Given the description of an element on the screen output the (x, y) to click on. 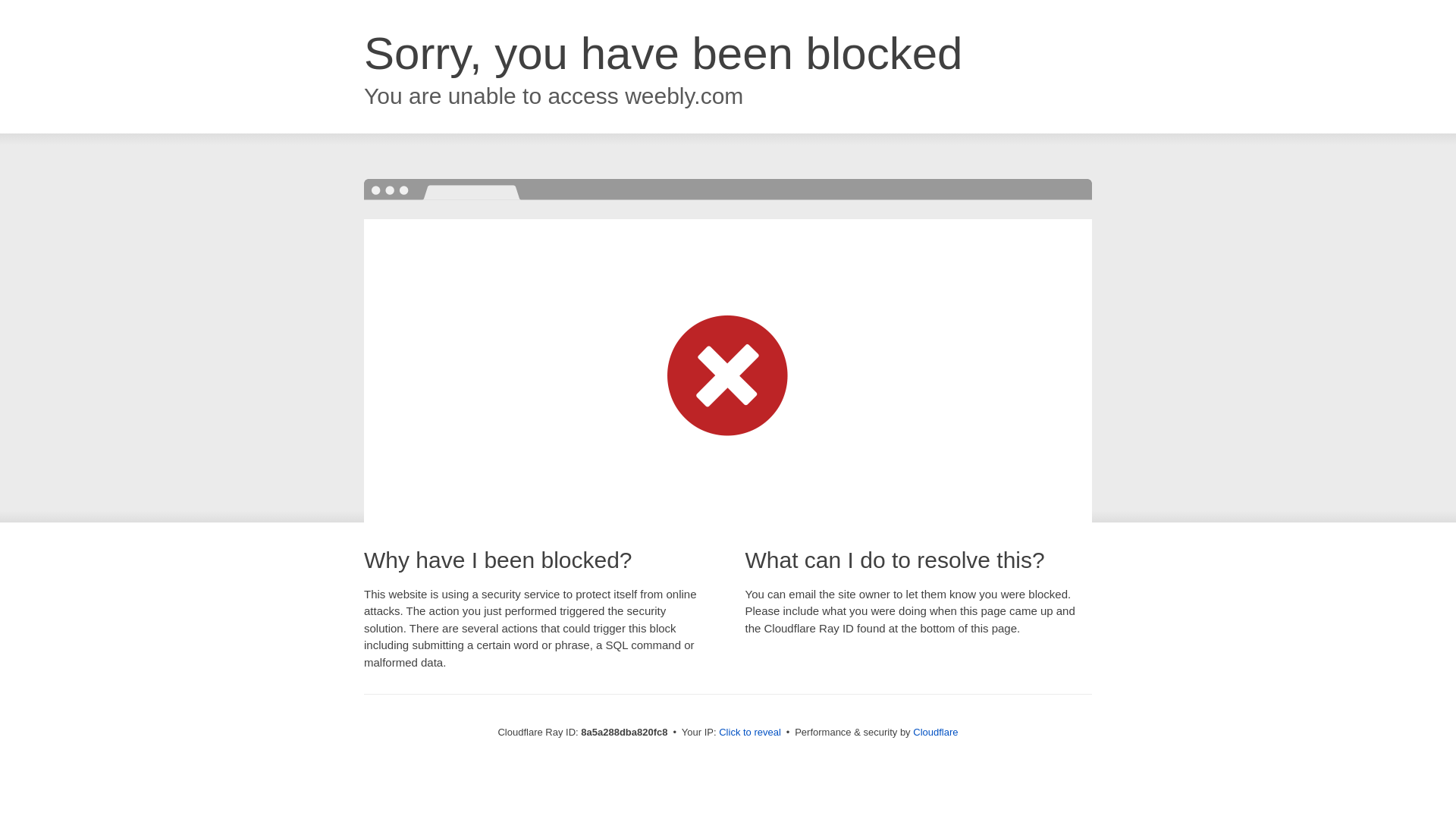
Click to reveal (749, 732)
Cloudflare (935, 731)
